Given the description of an element on the screen output the (x, y) to click on. 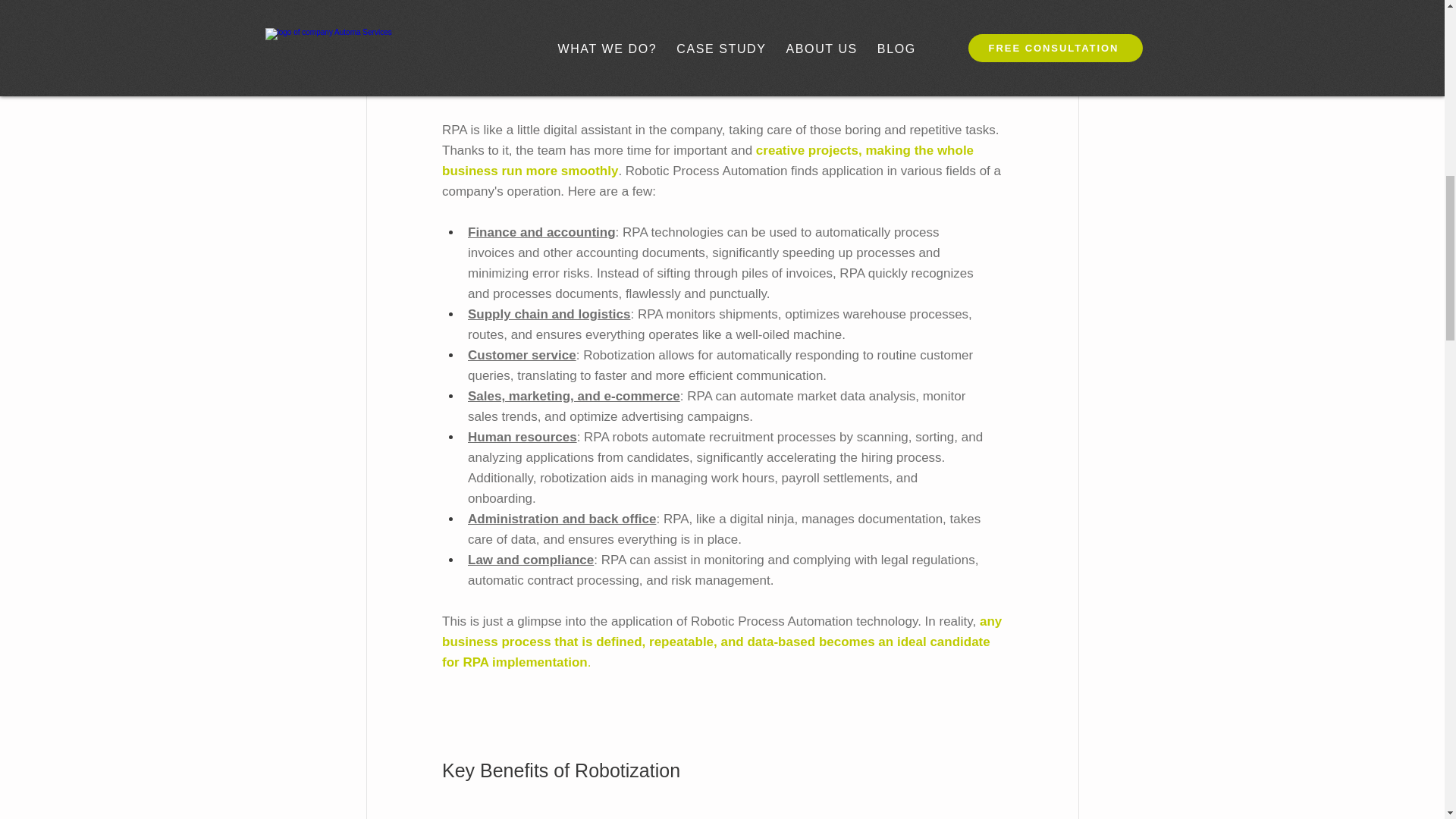
Human resources (521, 436)
Finance and accounting (540, 231)
Administration and back office (561, 518)
Law and compliance (529, 559)
Sales, marketing, and e-commerce (573, 395)
Customer service (521, 354)
Supply chain and logistics (547, 313)
